Given the description of an element on the screen output the (x, y) to click on. 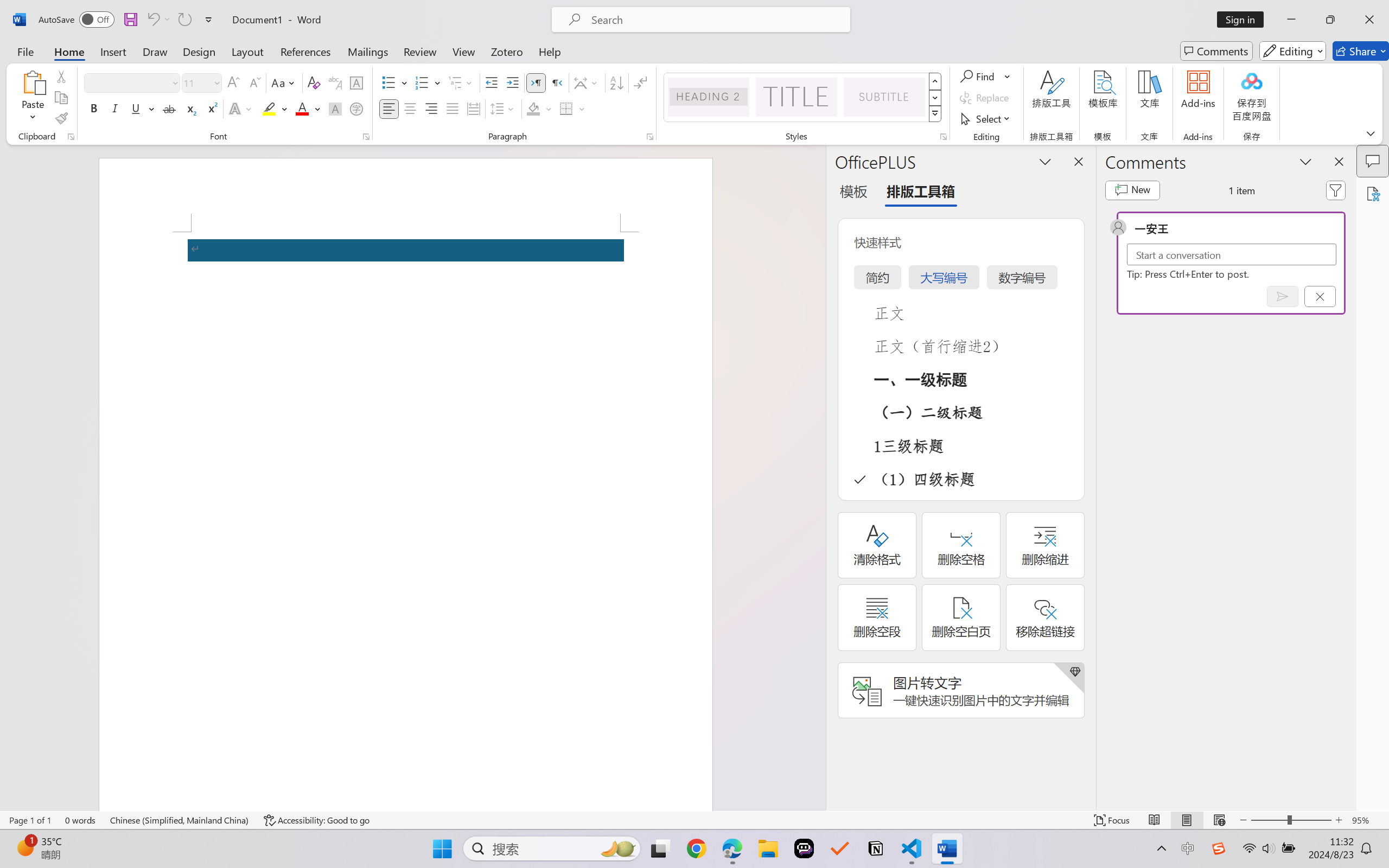
Post comment (Ctrl + Enter) (1282, 296)
Repeat Accessibility Checker (184, 19)
Sign in (1244, 19)
